Given the description of an element on the screen output the (x, y) to click on. 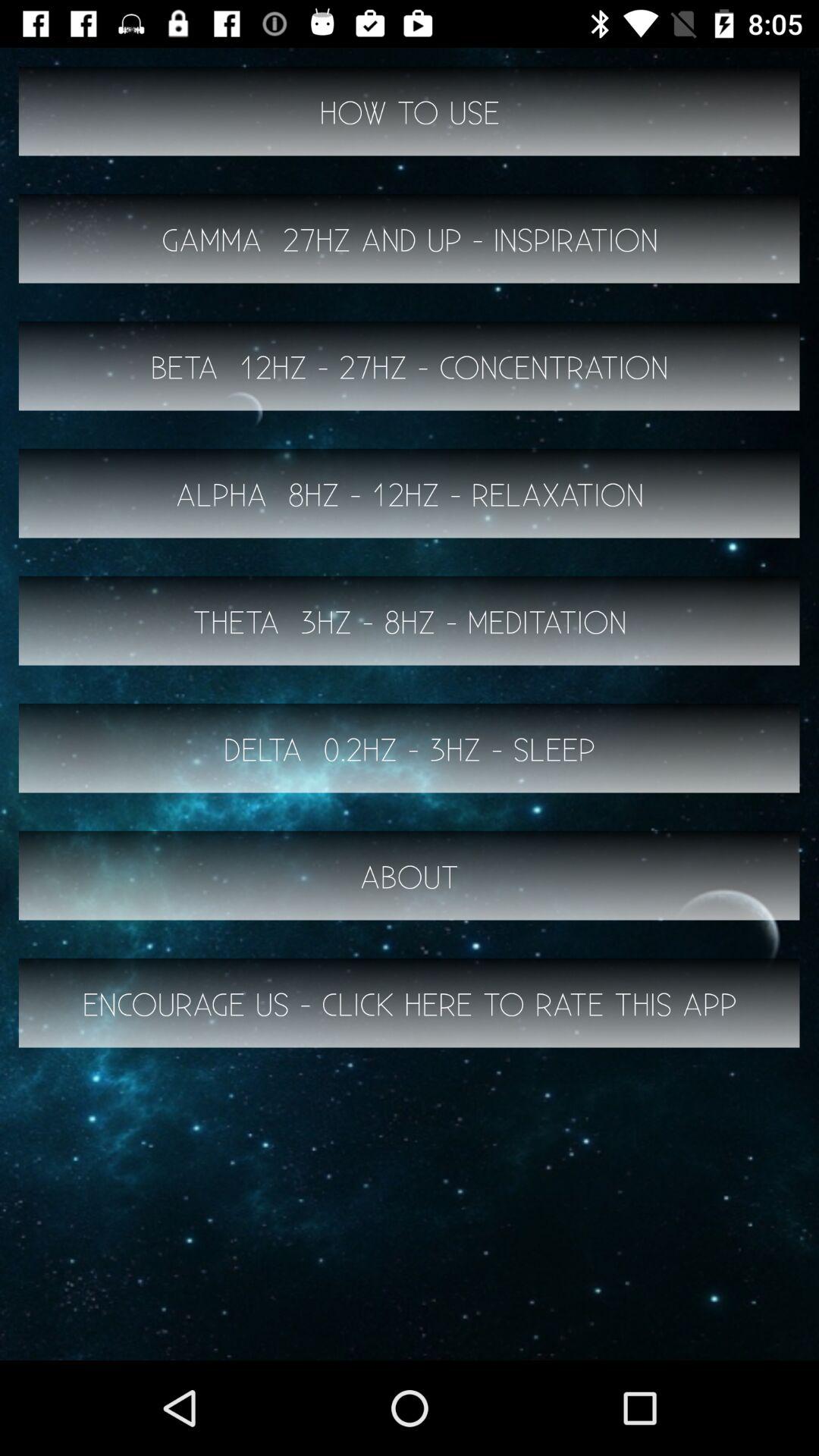
open the about item (409, 875)
